Given the description of an element on the screen output the (x, y) to click on. 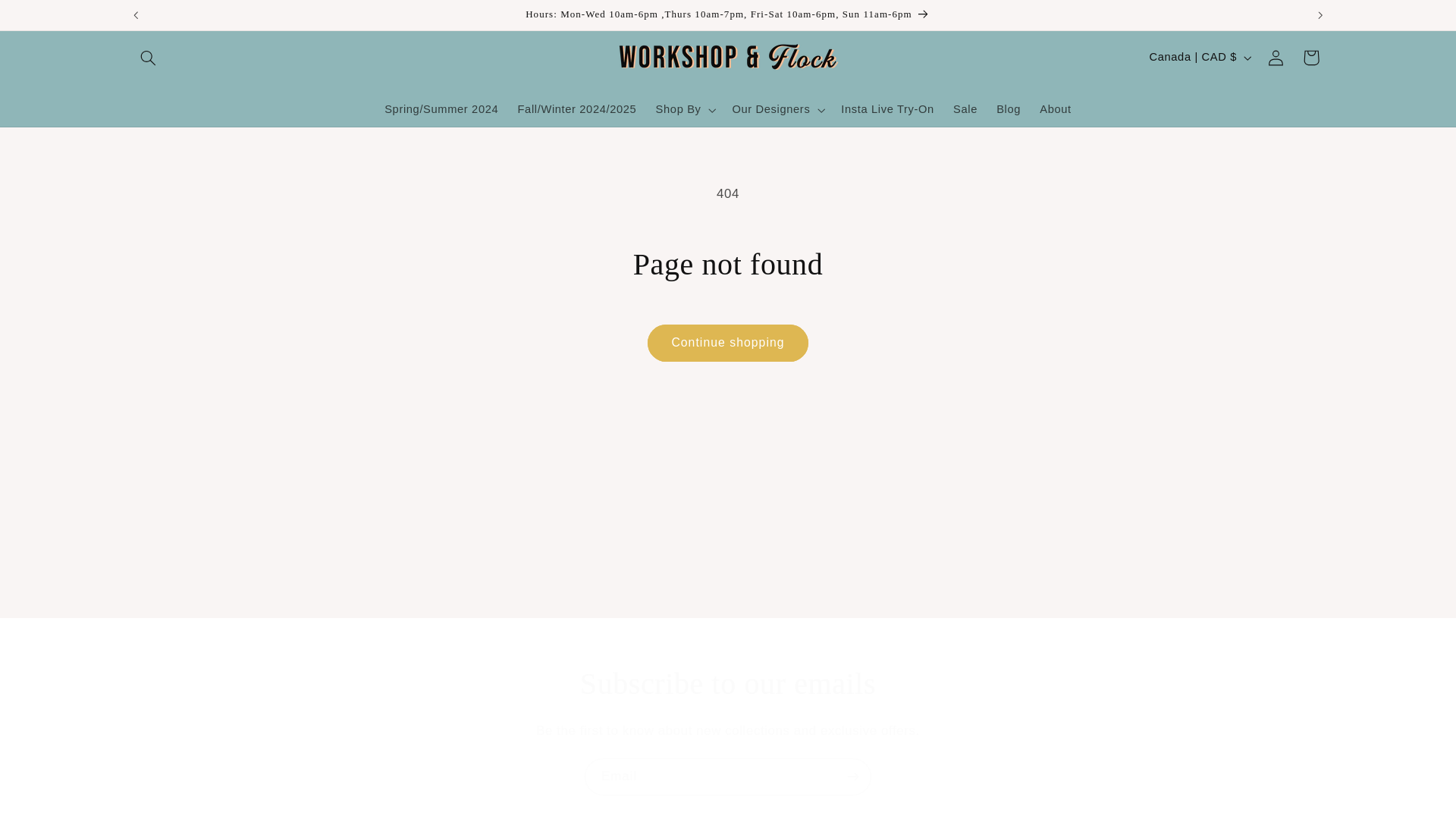
Subscribe to our emails (727, 683)
Email (727, 776)
Skip to content (48, 18)
